Given the description of an element on the screen output the (x, y) to click on. 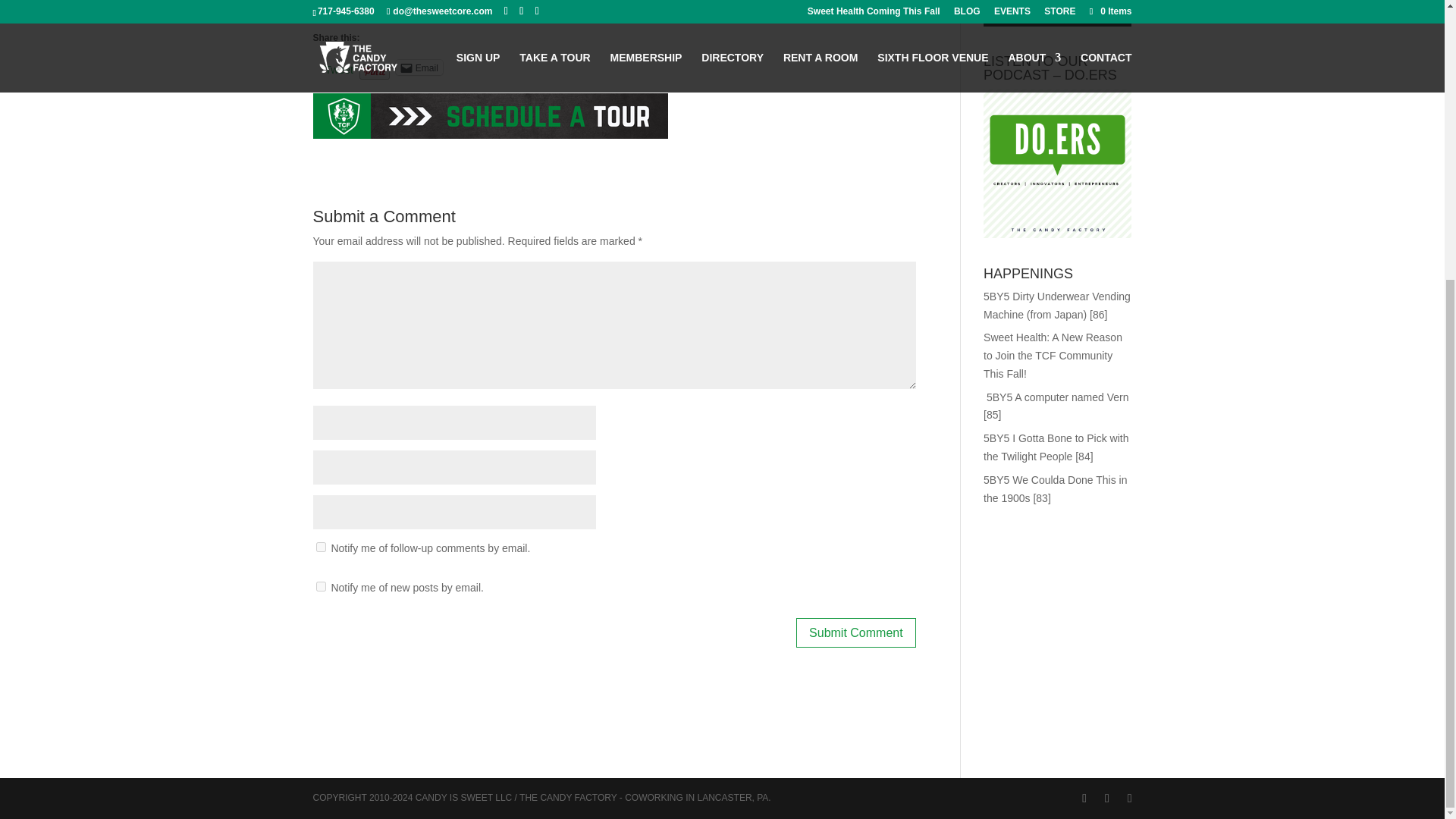
Submit Comment (855, 632)
subscribe (319, 586)
subscribe (319, 547)
Click to email a link to a friend (419, 67)
